Given the description of an element on the screen output the (x, y) to click on. 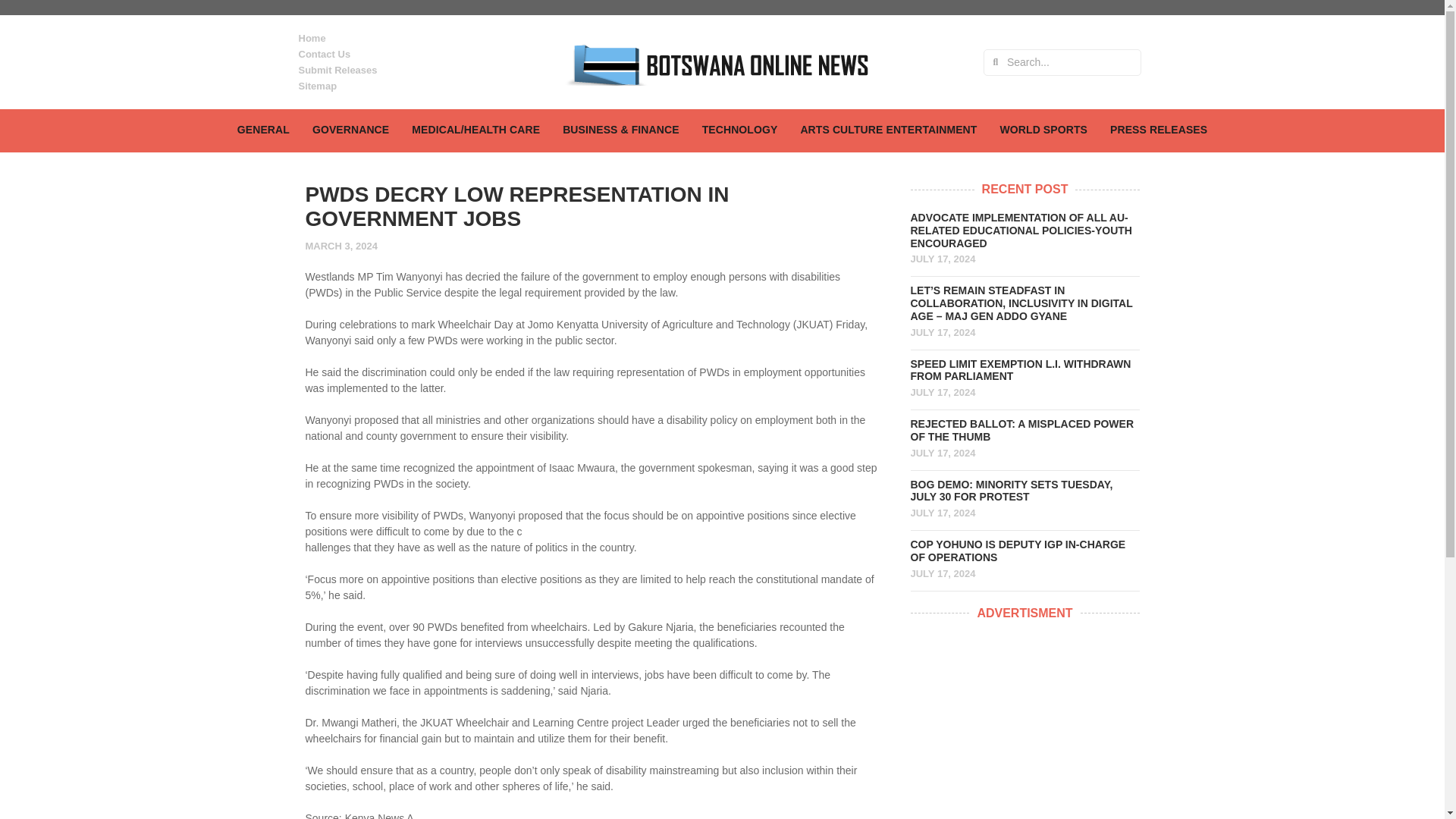
Home (375, 37)
Submit Releases (375, 69)
GOVERNANCE (350, 130)
ARTS CULTURE ENTERTAINMENT (887, 130)
PRESS RELEASES (1158, 130)
GENERAL (263, 130)
Contact Us (375, 53)
Sitemap (375, 85)
TECHNOLOGY (739, 130)
WORLD SPORTS (1042, 130)
